Given the description of an element on the screen output the (x, y) to click on. 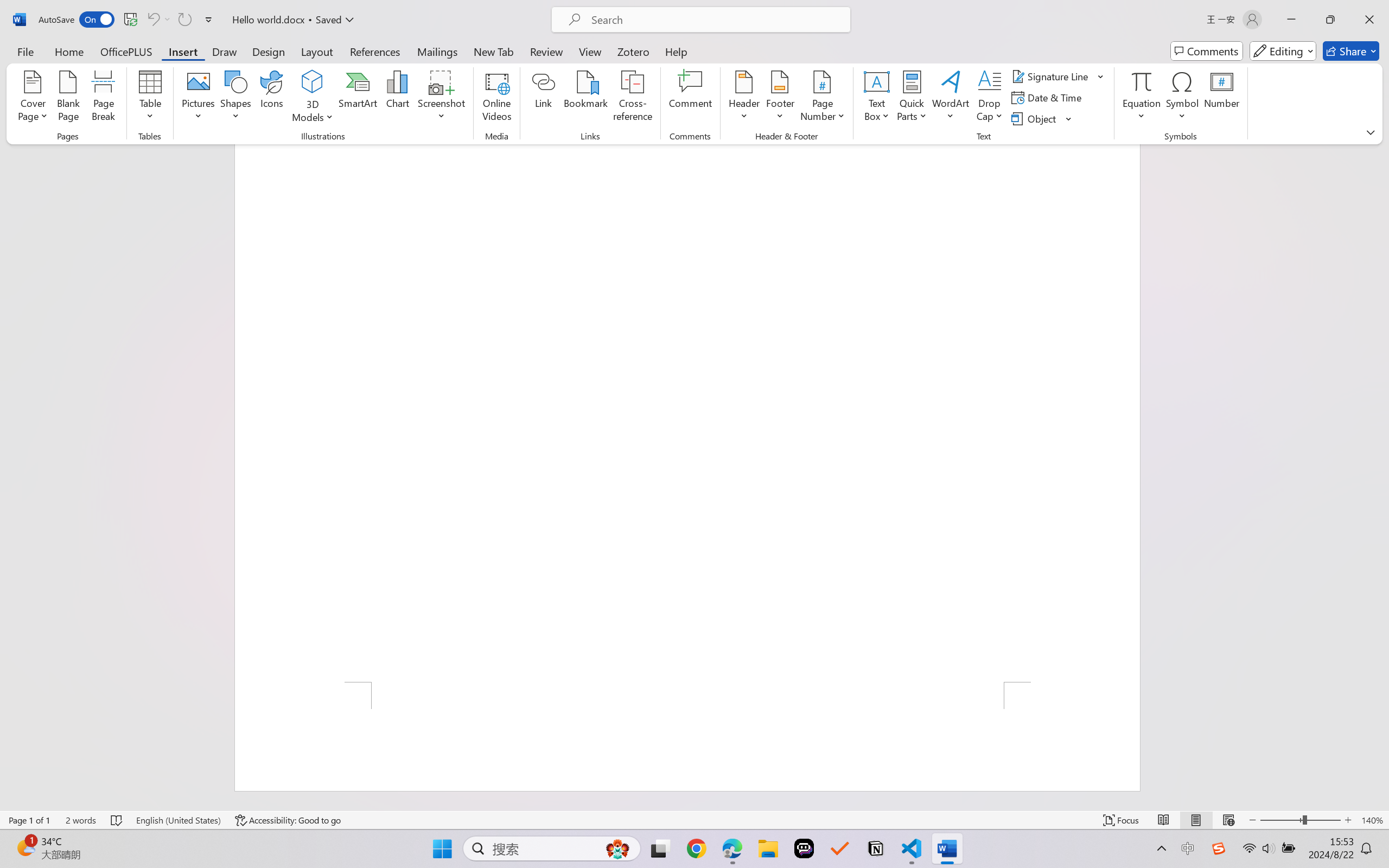
Poe (804, 848)
Review (546, 51)
Zoom 140% (1372, 819)
Design (268, 51)
AutomationID: DynamicSearchBoxGleamImage (617, 848)
Google Chrome (696, 848)
Mailings (437, 51)
Zoom Out (1280, 819)
